Given the description of an element on the screen output the (x, y) to click on. 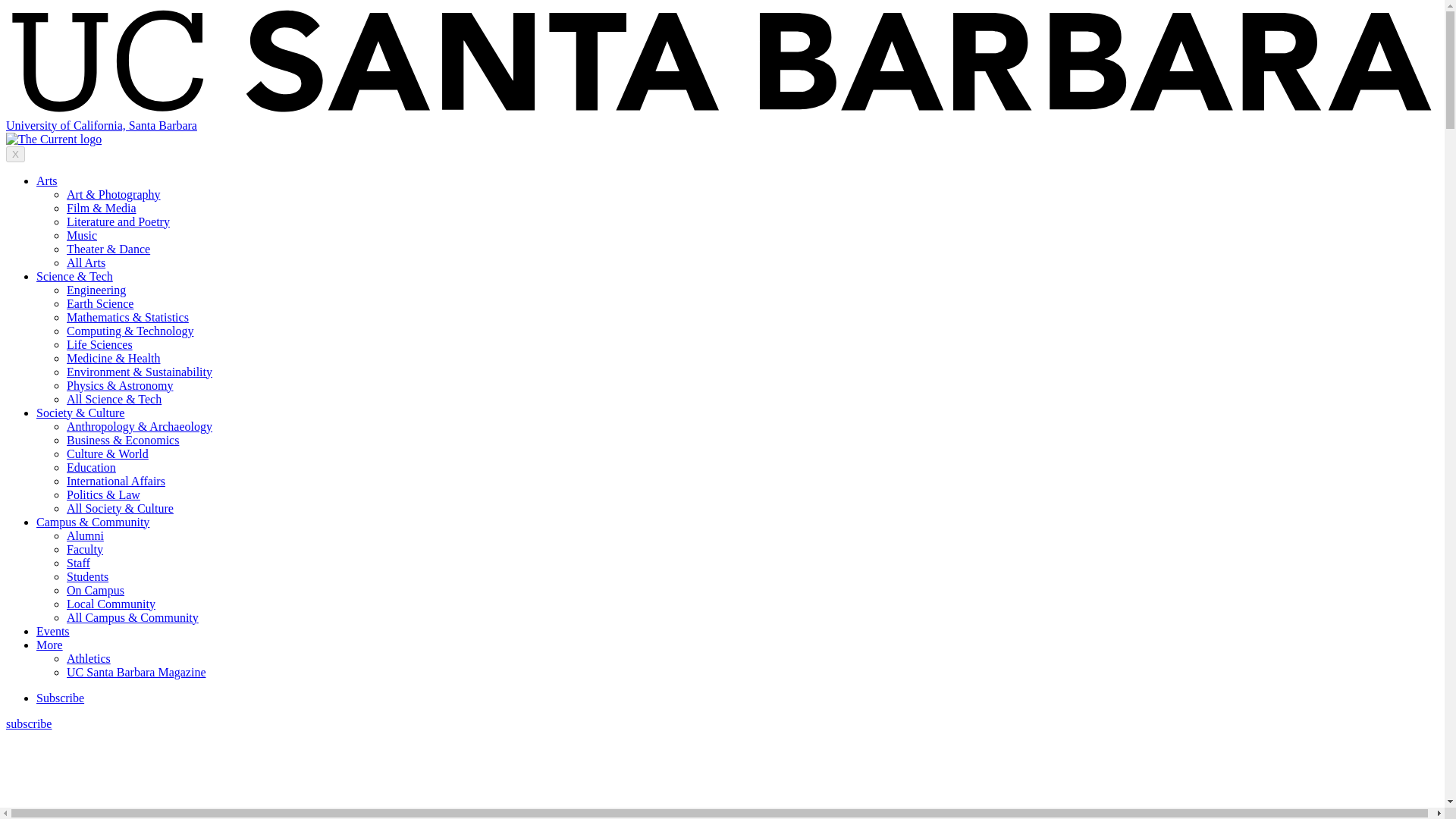
Staff (78, 562)
Events (52, 631)
More (49, 644)
Faculty (84, 549)
X (14, 154)
Life Sciences (99, 344)
Music (81, 235)
University of California, Santa Barbara (100, 124)
Literature and Poetry (118, 221)
Education (91, 467)
Alumni (84, 535)
Arts (47, 180)
Local Community (110, 603)
On Campus (94, 590)
